Given the description of an element on the screen output the (x, y) to click on. 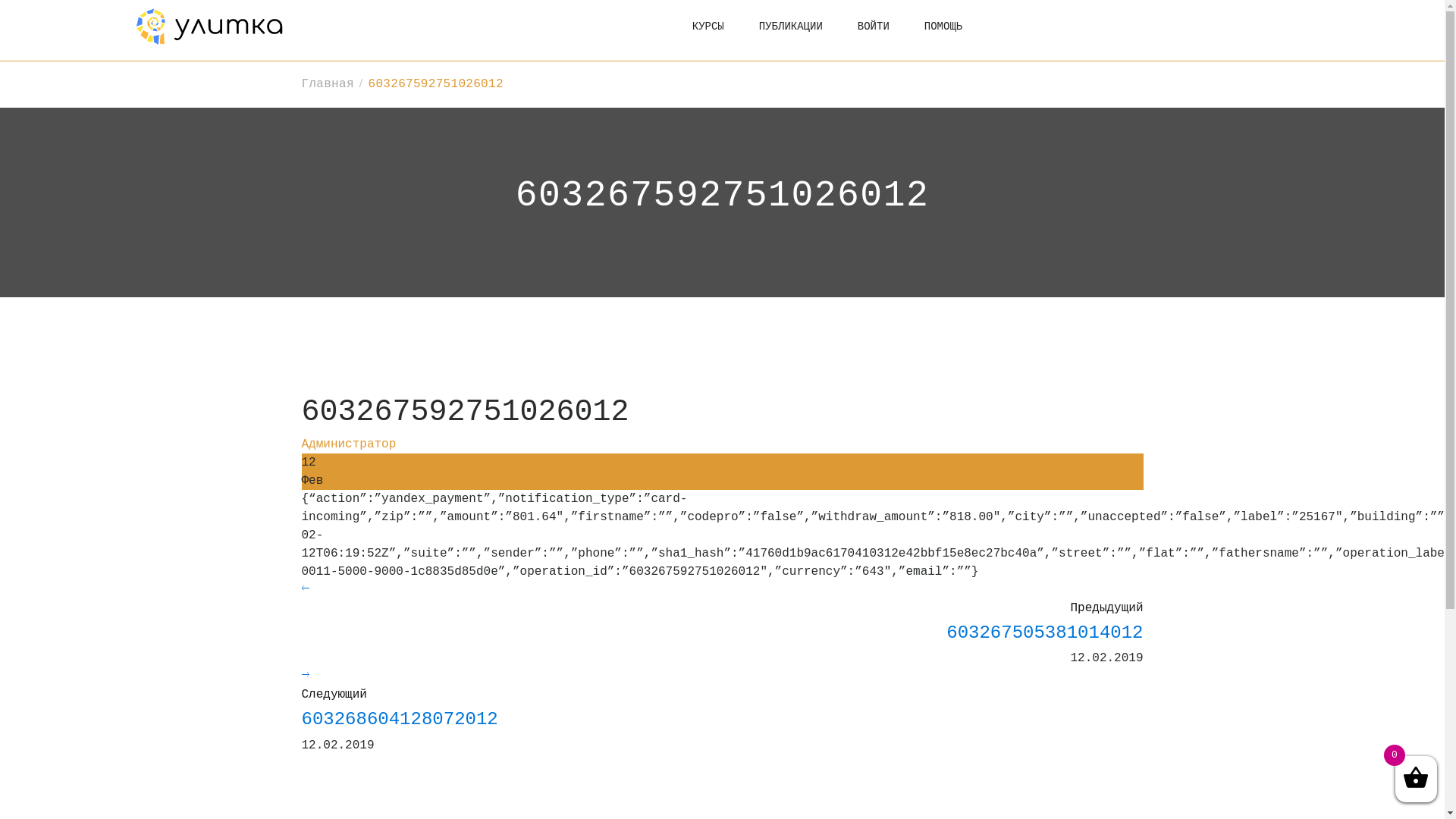
603267505381014012 Element type: text (722, 644)
603268604128072012 Element type: text (722, 730)
